Given the description of an element on the screen output the (x, y) to click on. 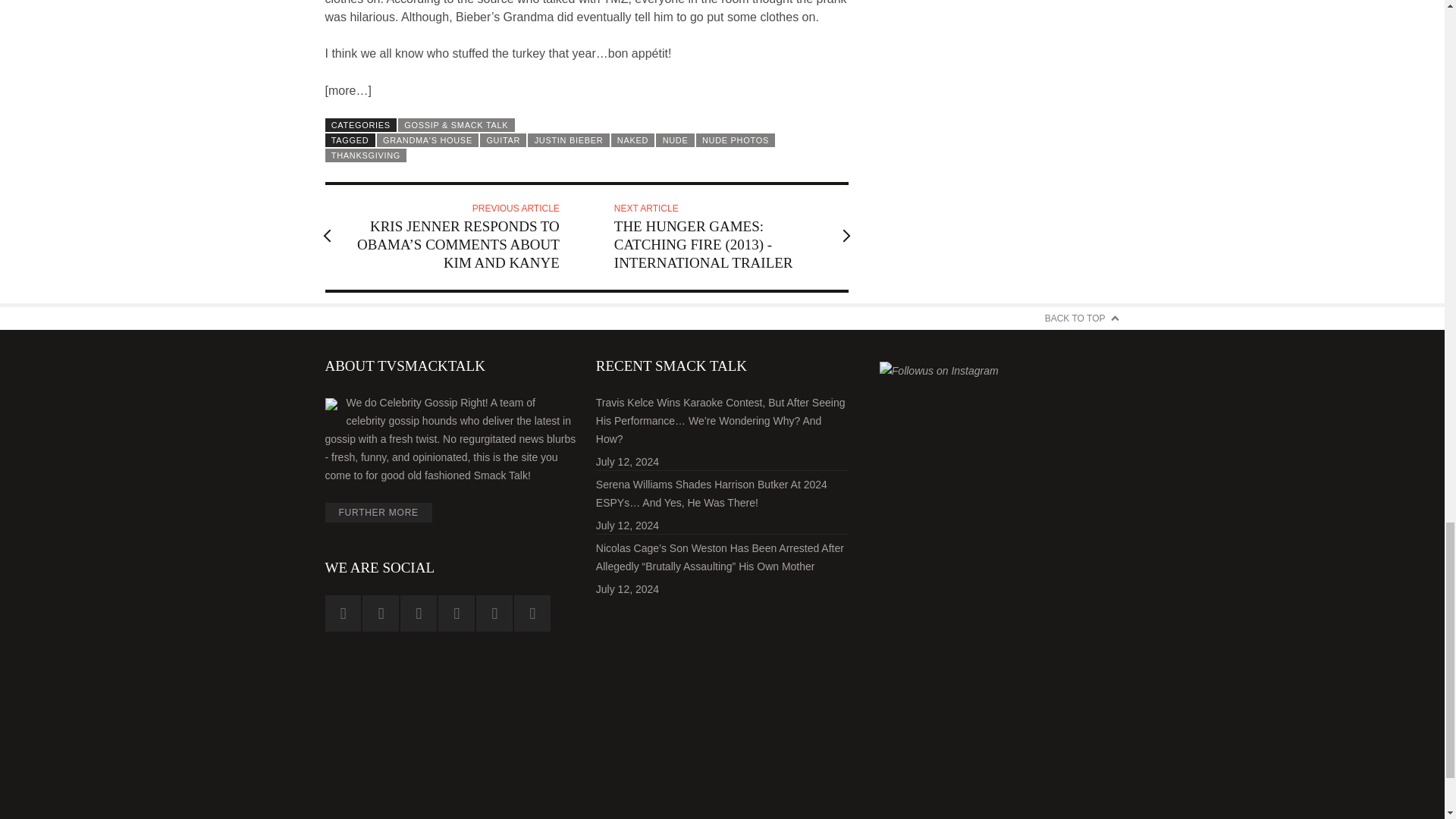
View all posts tagged grandma's house (428, 140)
View all posts tagged guitar (502, 140)
View all posts tagged Justin Bieber (567, 140)
View all posts tagged Nude (675, 140)
View all posts tagged Thanksgiving (365, 155)
View all posts tagged Nude Photos (734, 140)
View all posts tagged Naked (633, 140)
